Given the description of an element on the screen output the (x, y) to click on. 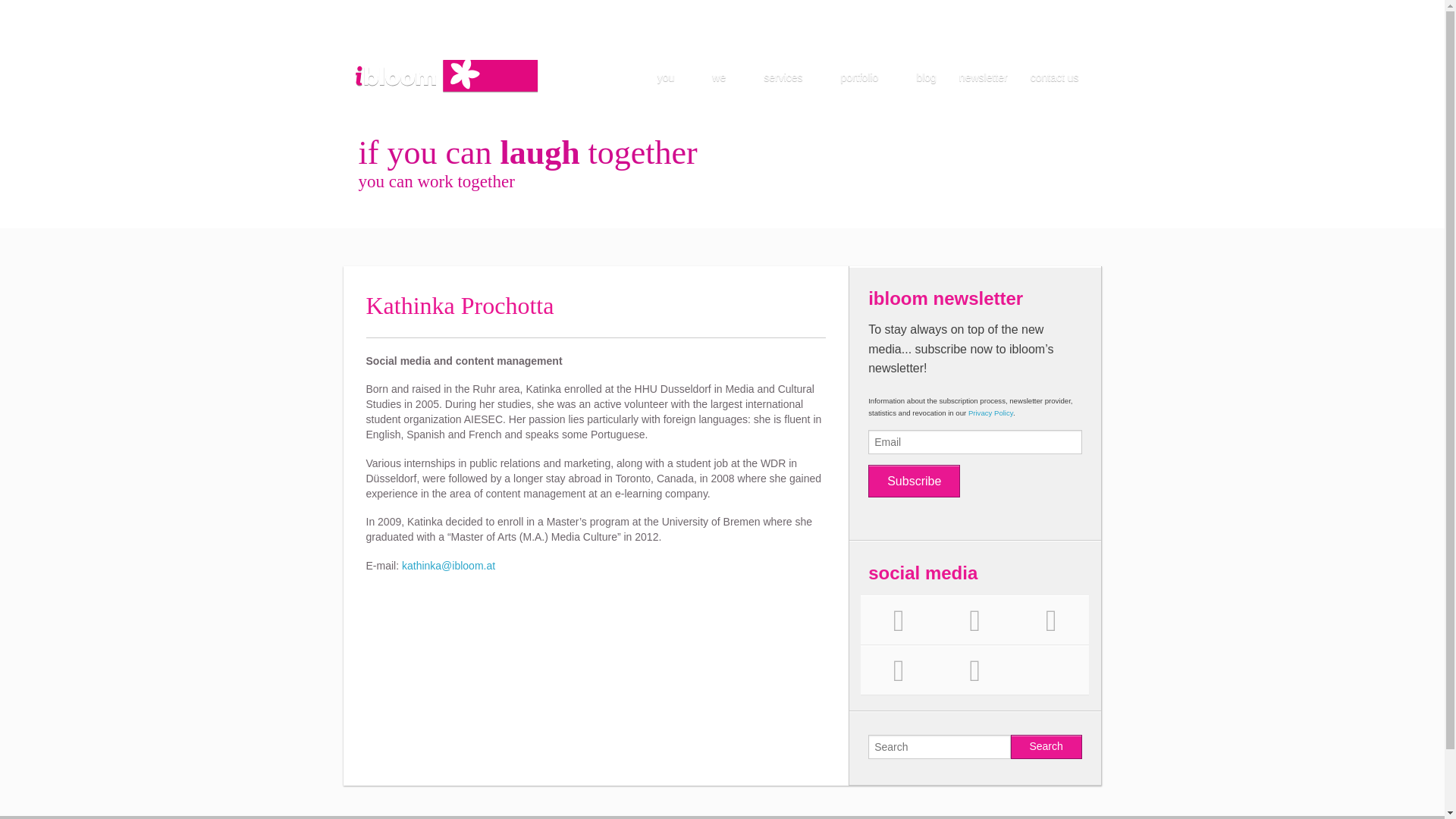
Disclaimer (966, 9)
Subscribe (913, 481)
Webmail (1074, 9)
ibloom (447, 74)
you (673, 76)
Search (1045, 746)
Imprint (1021, 9)
Privacy Policy (898, 9)
ibloom (447, 74)
